Given the description of an element on the screen output the (x, y) to click on. 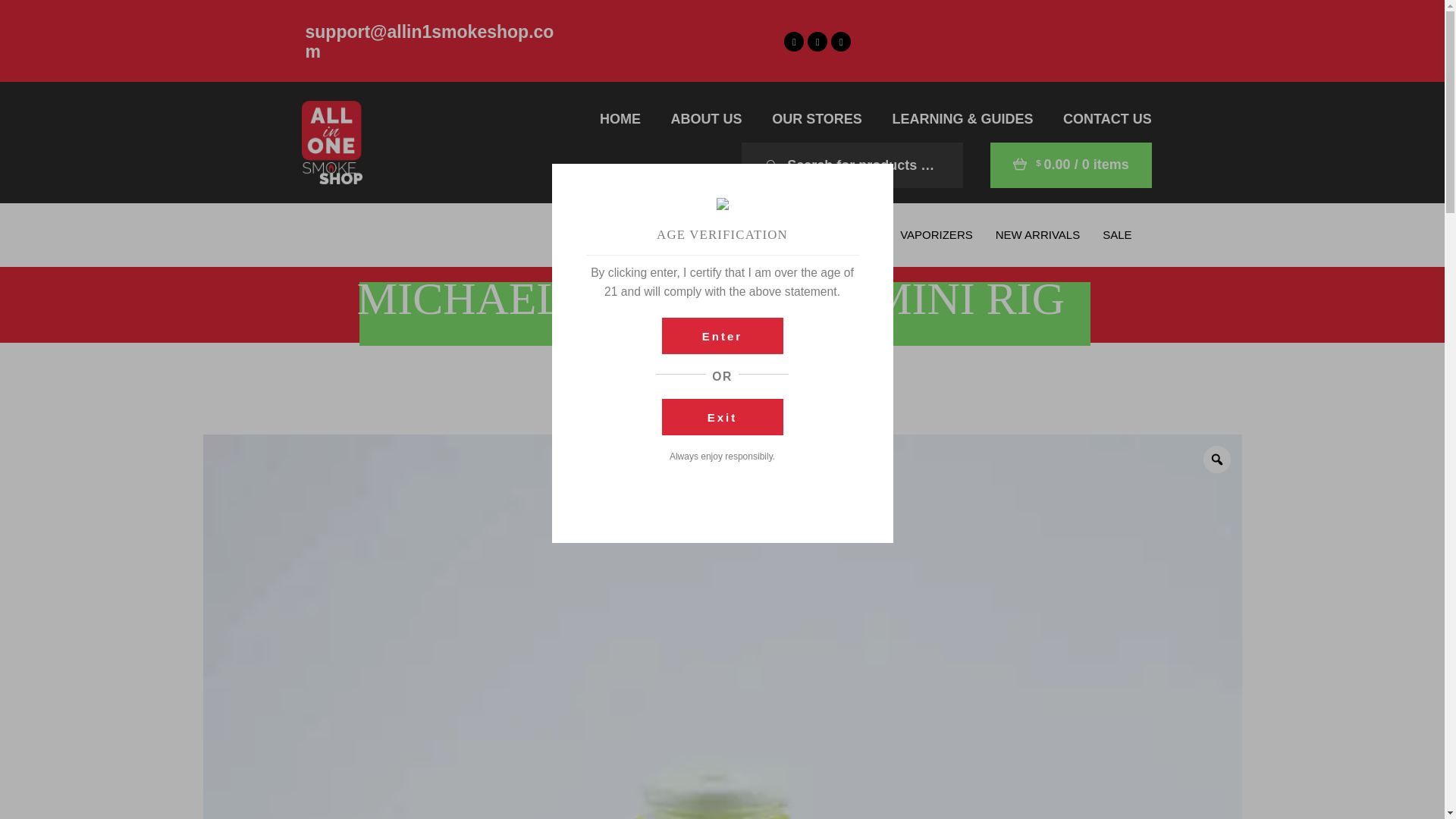
ABOUT US (706, 119)
HOME (620, 119)
CONTACT US (1107, 119)
SHOP (600, 234)
SEARCH (764, 165)
OUR STORES (816, 119)
